Given the description of an element on the screen output the (x, y) to click on. 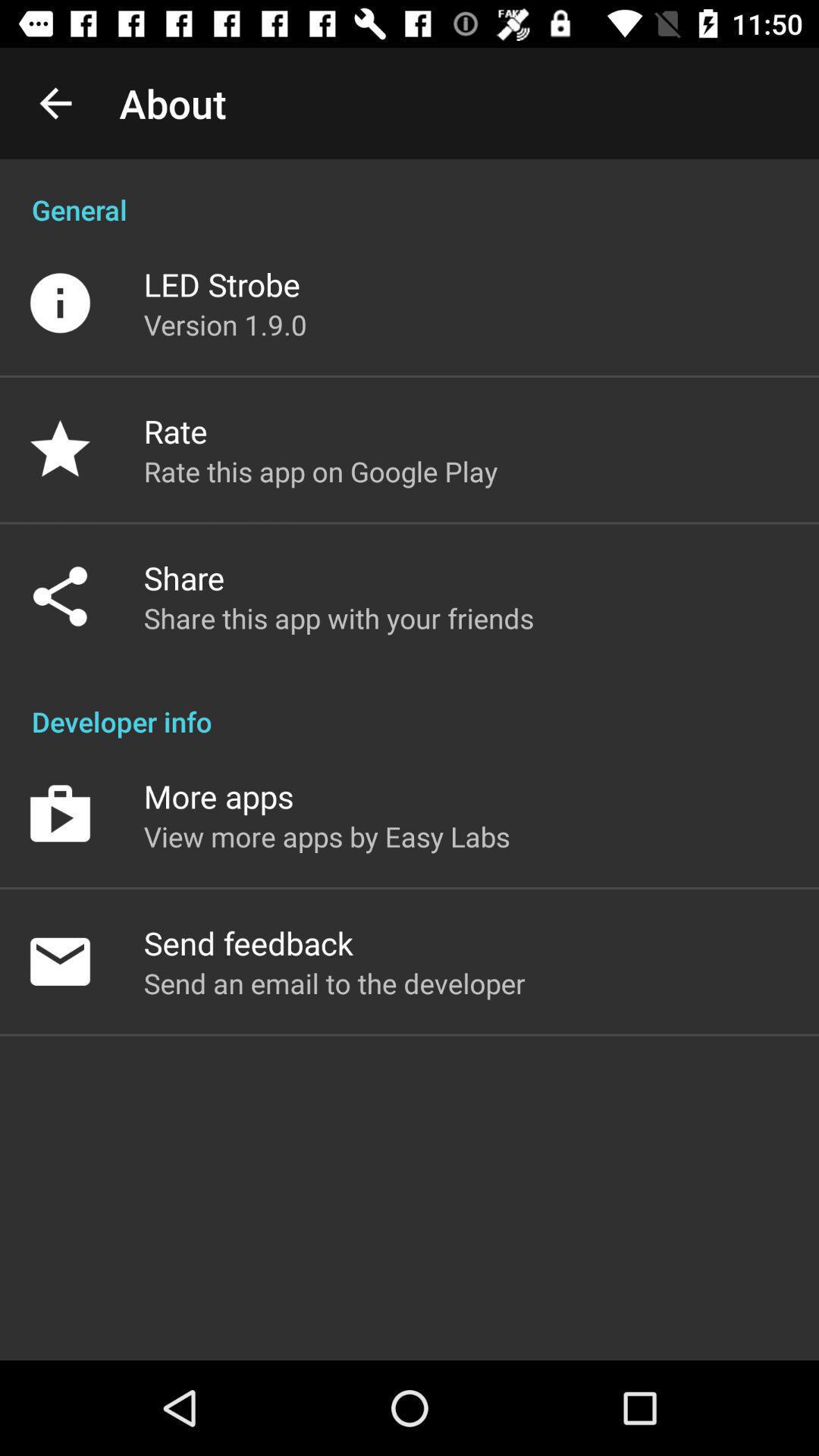
launch icon next to the about app (55, 103)
